Given the description of an element on the screen output the (x, y) to click on. 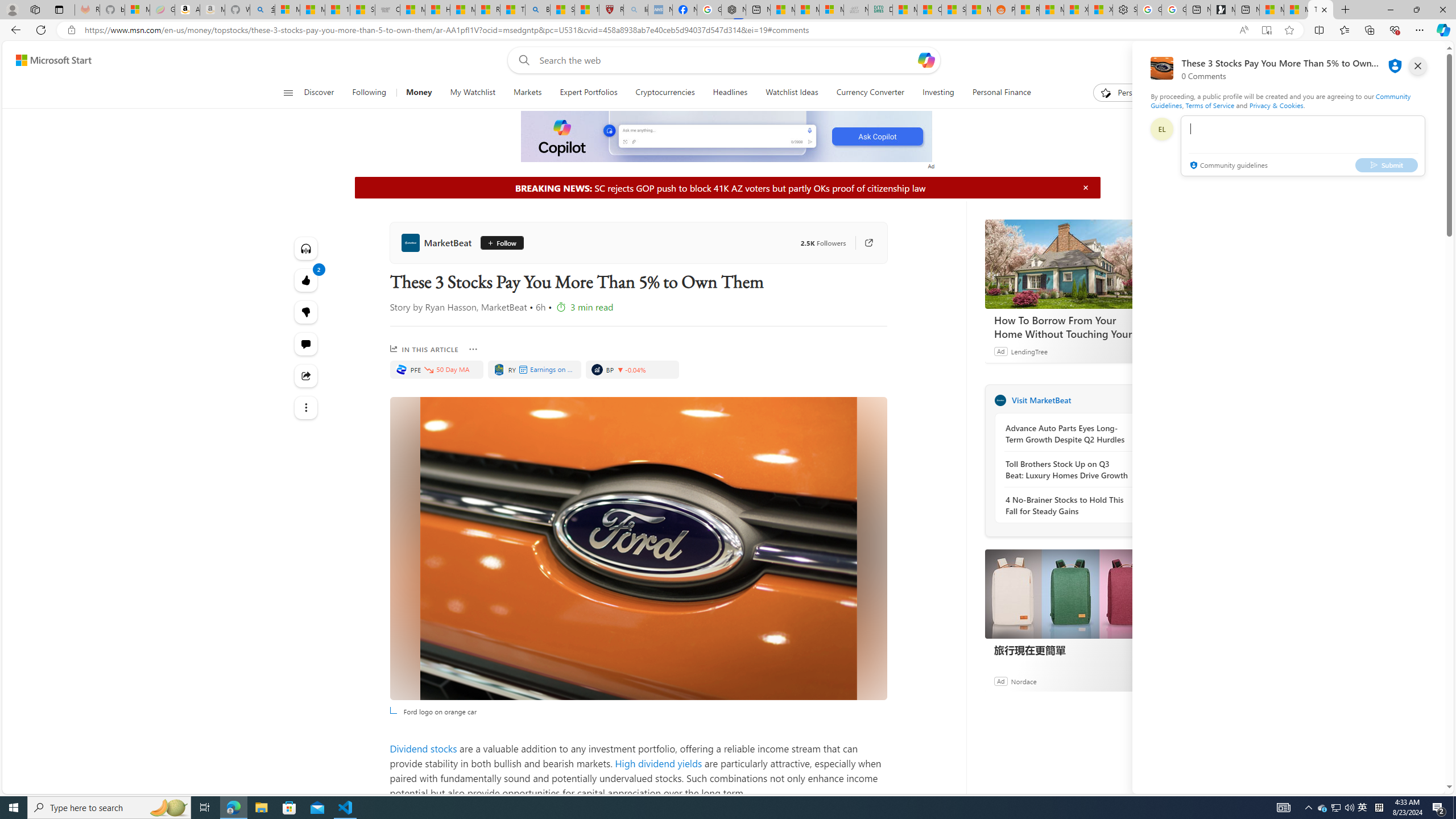
Currency Converter (869, 92)
Expert Portfolios (588, 92)
These 3 Stocks Pay You More Than 5% to Own Them (1320, 9)
Visit MarketBeat website (1140, 399)
Privacy & Cookies (1276, 104)
Recipes - MSN (487, 9)
